Given the description of an element on the screen output the (x, y) to click on. 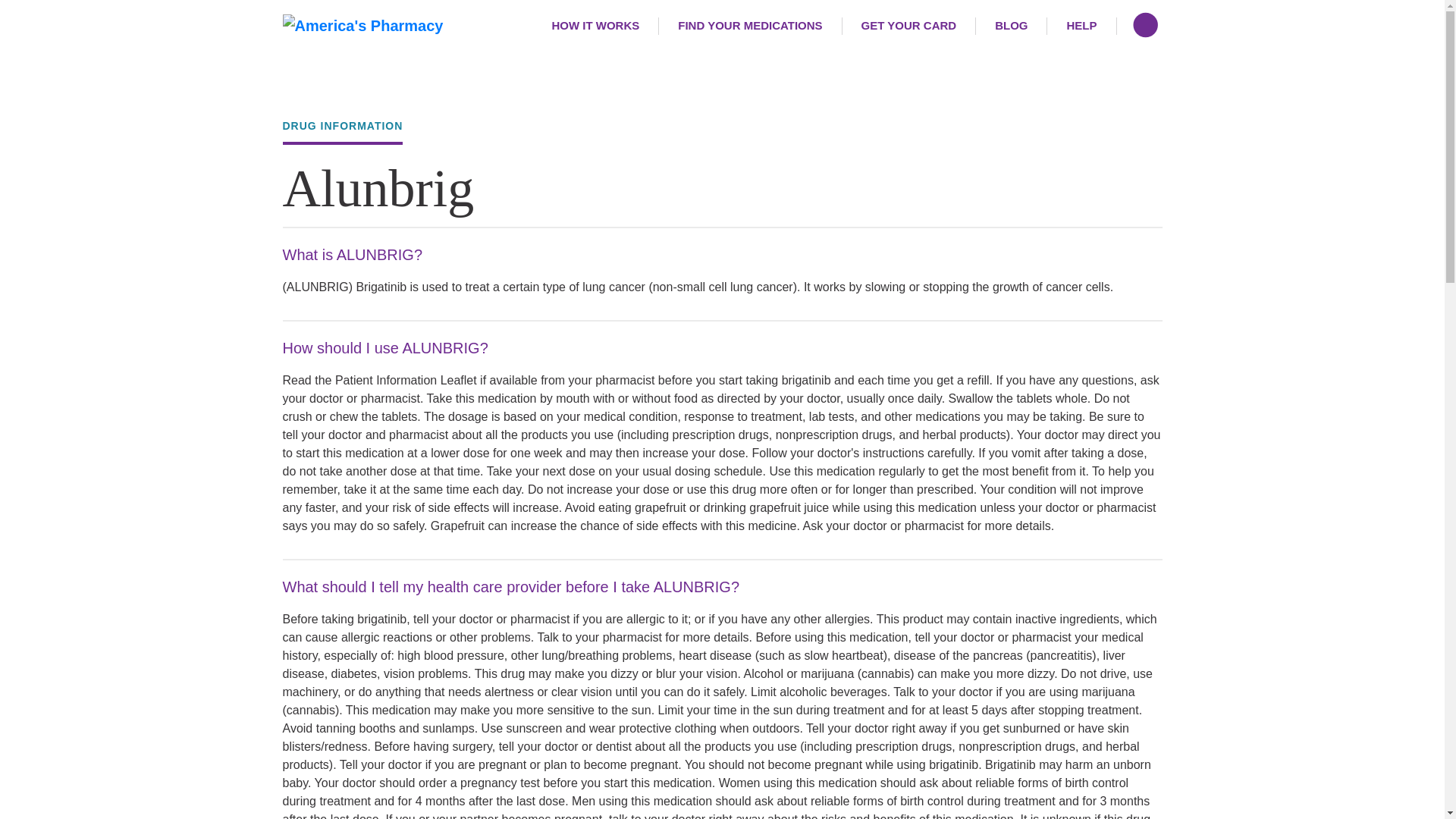
HELP (1081, 26)
GET YOUR CARD (909, 26)
BLOG (1010, 26)
FIND YOUR MEDICATIONS (750, 26)
HOW IT WORKS (595, 26)
Search (1146, 26)
